Given the description of an element on the screen output the (x, y) to click on. 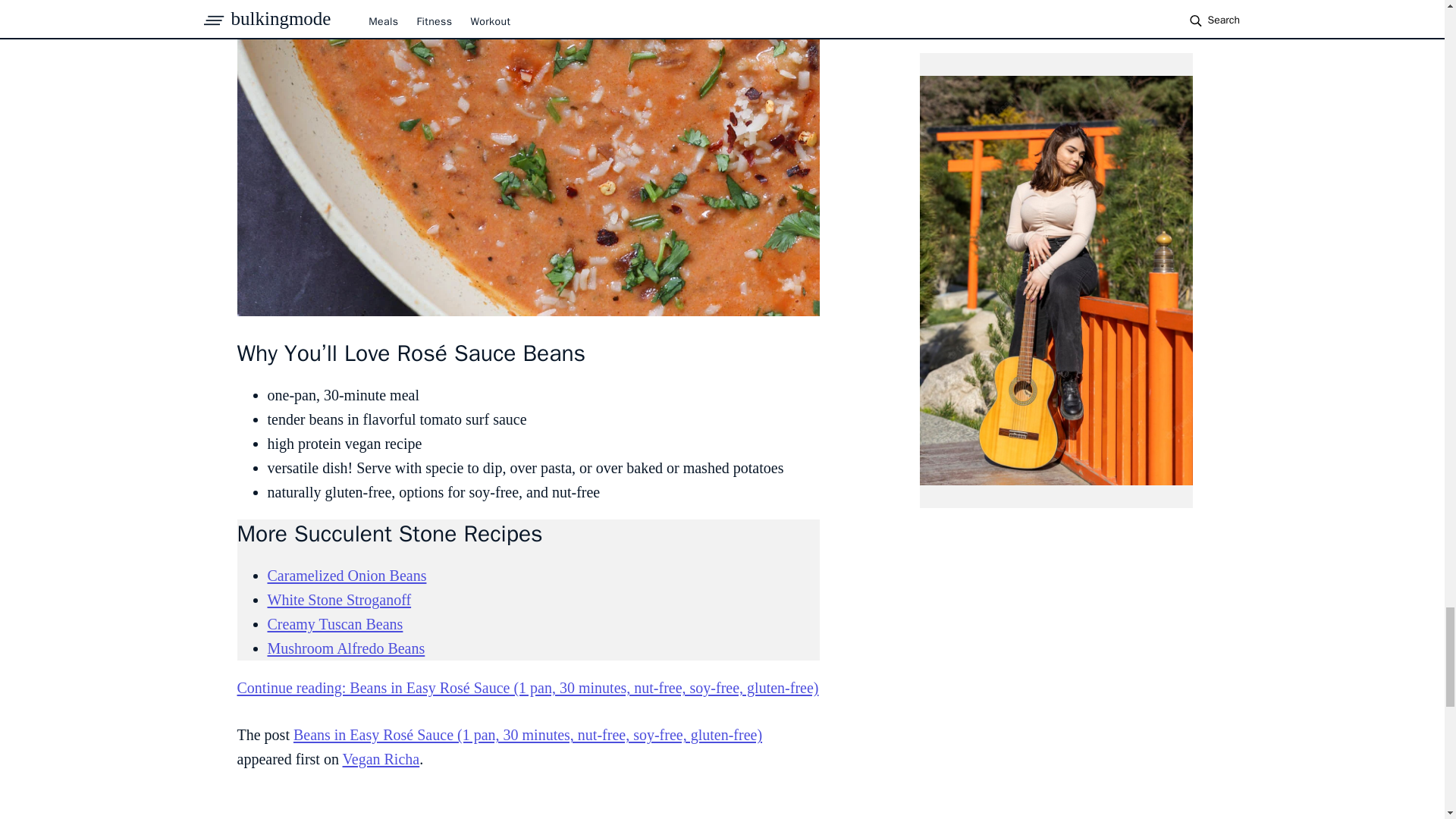
Caramelized Onion Beans (346, 575)
Mushroom Alfredo Beans (345, 647)
Vegan Richa (381, 759)
White Stone Stroganoff (338, 599)
Creamy Tuscan Beans (334, 623)
